Given the description of an element on the screen output the (x, y) to click on. 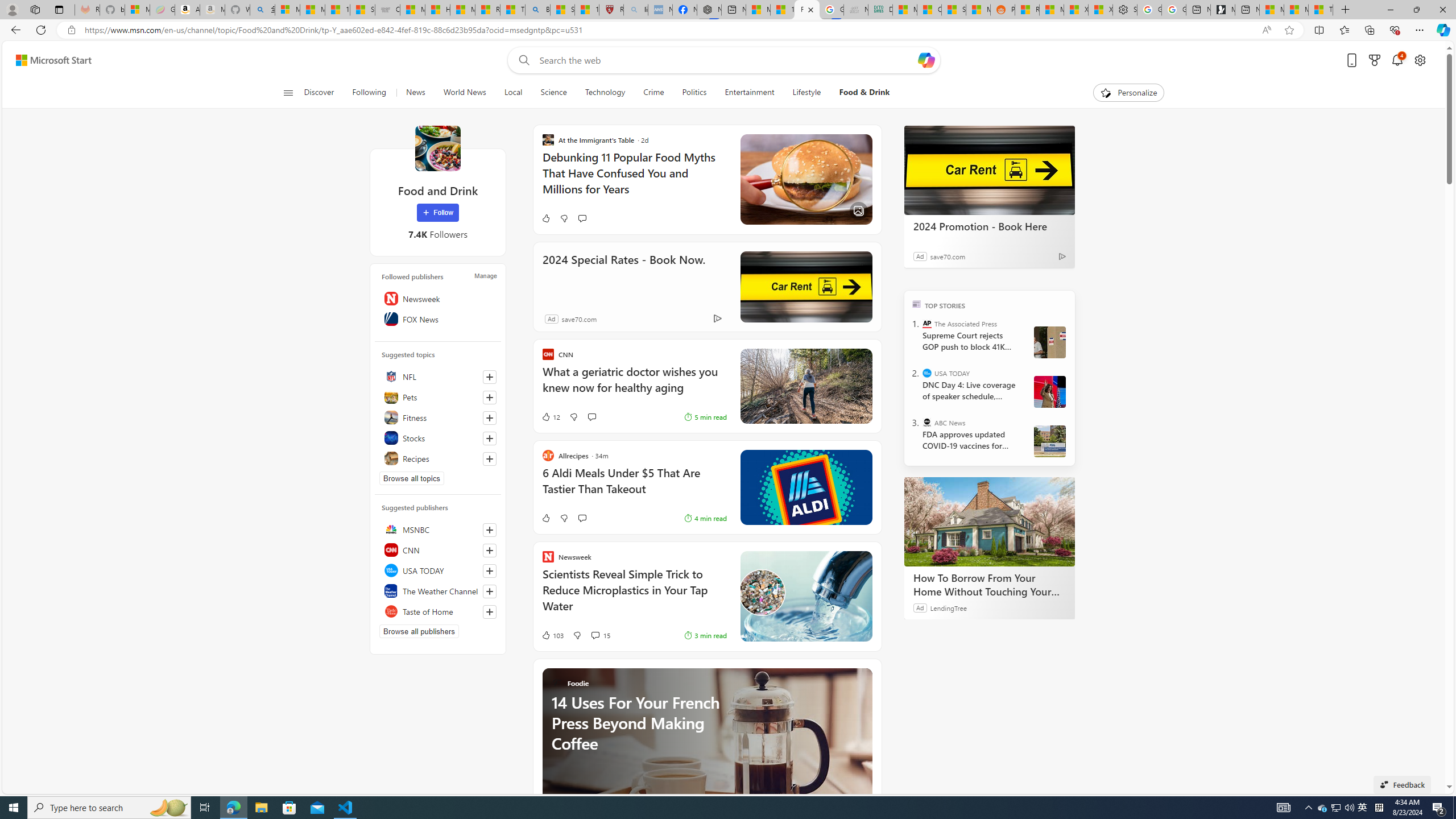
Browse all publishers (419, 631)
2024 Special Rates - Book Now. (805, 286)
R******* | Trusted Community Engagement and Contributions (1026, 9)
View comments 15 Comment (599, 635)
MSNBC (437, 529)
